Given the description of an element on the screen output the (x, y) to click on. 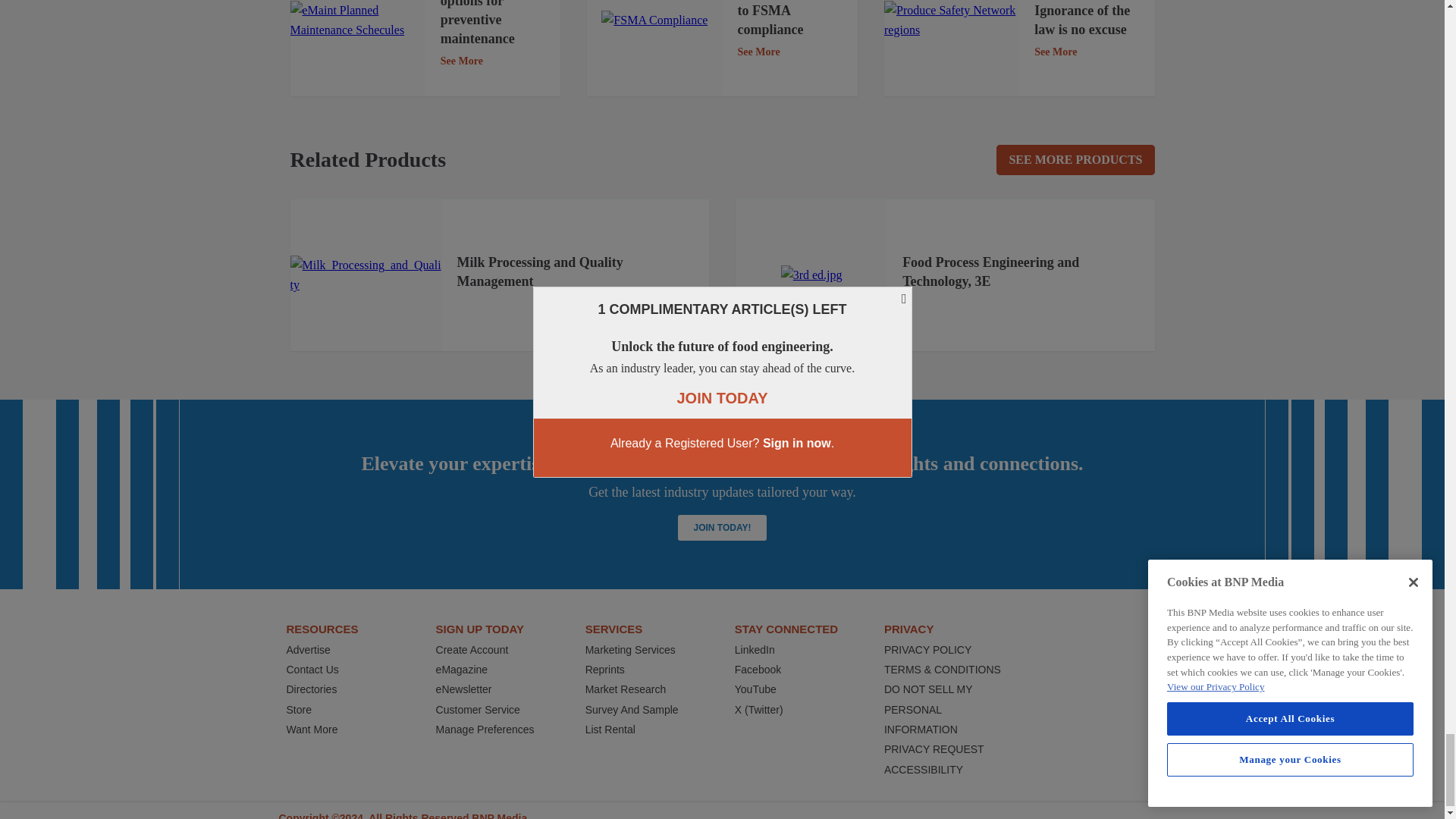
Produce Safety Network regions (951, 20)
FSMA Compliance (654, 20)
eMaint Planned Maintenance Schecules (357, 20)
3rd ed.jpg (811, 275)
